Given the description of an element on the screen output the (x, y) to click on. 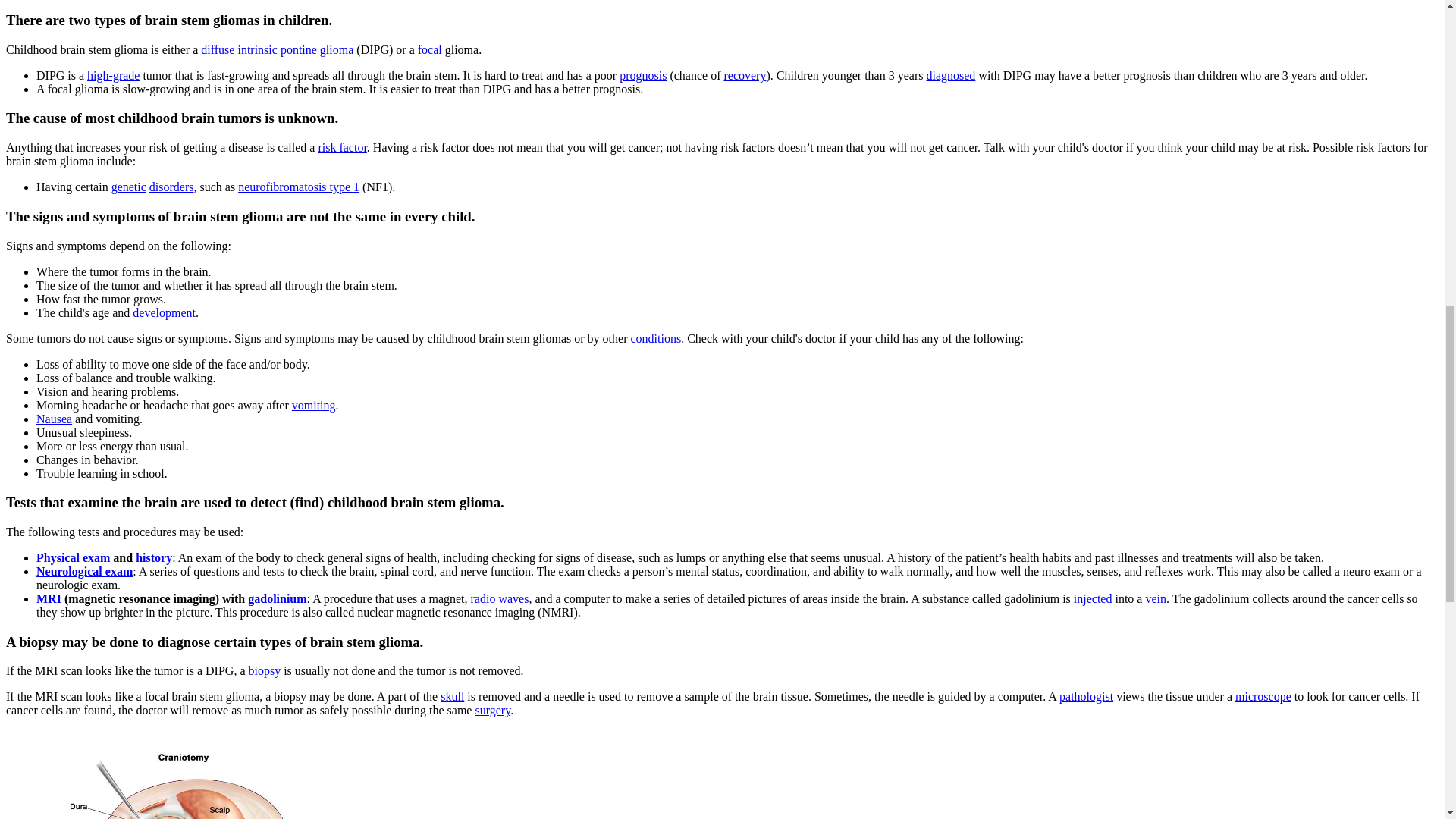
disorders (171, 186)
risk factor (341, 146)
genetic (129, 186)
development (163, 312)
recovery (744, 74)
high-grade (113, 74)
focal (429, 49)
diagnosed (950, 74)
neurofibromatosis type 1 (298, 186)
